Given the description of an element on the screen output the (x, y) to click on. 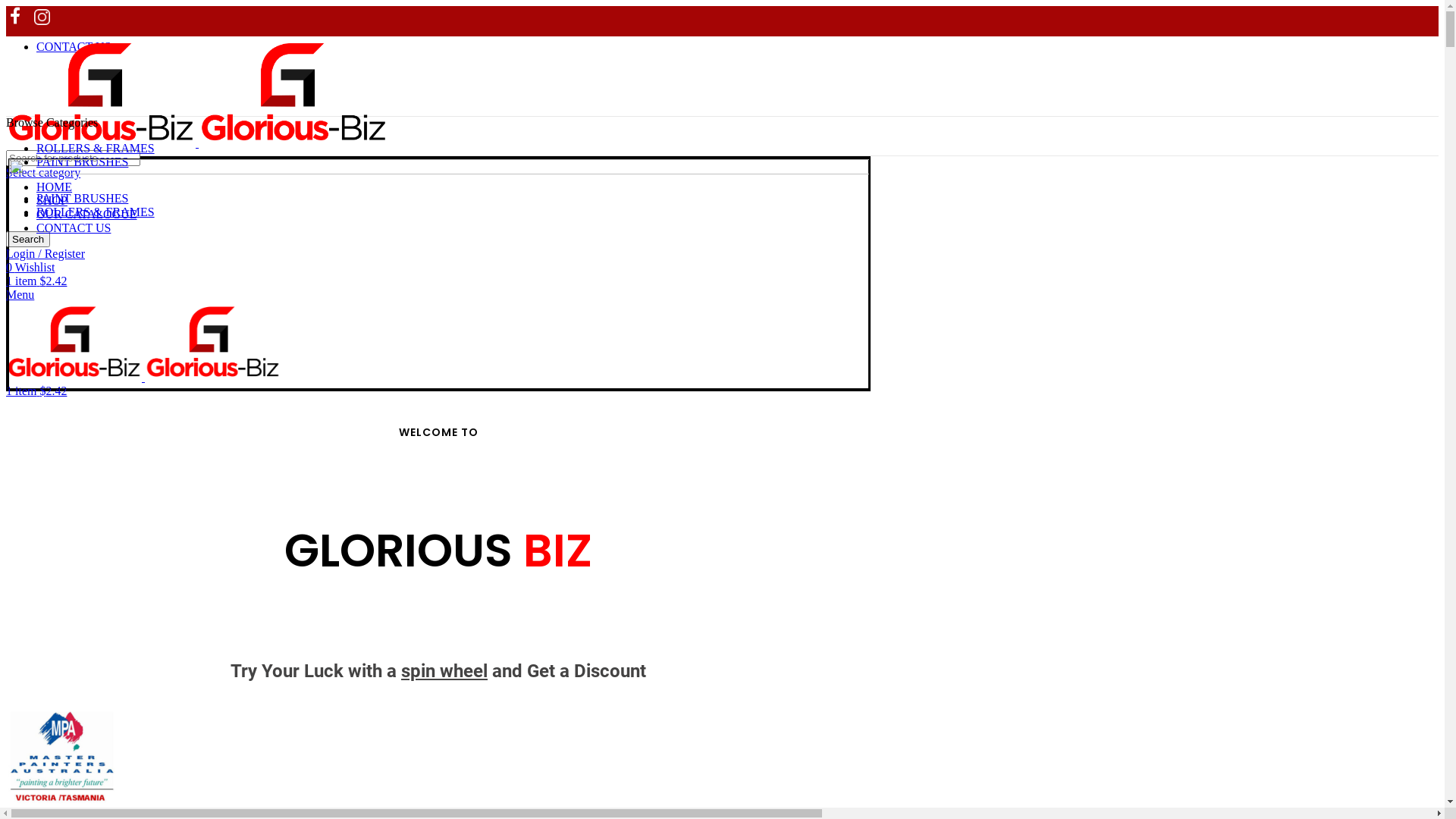
OUR CATALOGUE Element type: text (86, 213)
ROLLERS & FRAMES Element type: text (95, 147)
Search Element type: text (28, 239)
CONTACT US Element type: text (73, 46)
SHOP Element type: text (51, 200)
Search for products Element type: hover (73, 158)
CONTACT US Element type: text (73, 227)
HOME Element type: text (54, 186)
1 item $2.42 Element type: text (36, 280)
ROLLERS & FRAMES Element type: text (95, 211)
Select category Element type: text (43, 172)
1 item $2.42 Element type: text (36, 390)
Menu Element type: text (20, 294)
0 Wishlist Element type: text (30, 266)
PAINT BRUSHES Element type: text (82, 161)
PAINT BRUSHES Element type: text (82, 197)
Login / Register Element type: text (45, 253)
